Given the description of an element on the screen output the (x, y) to click on. 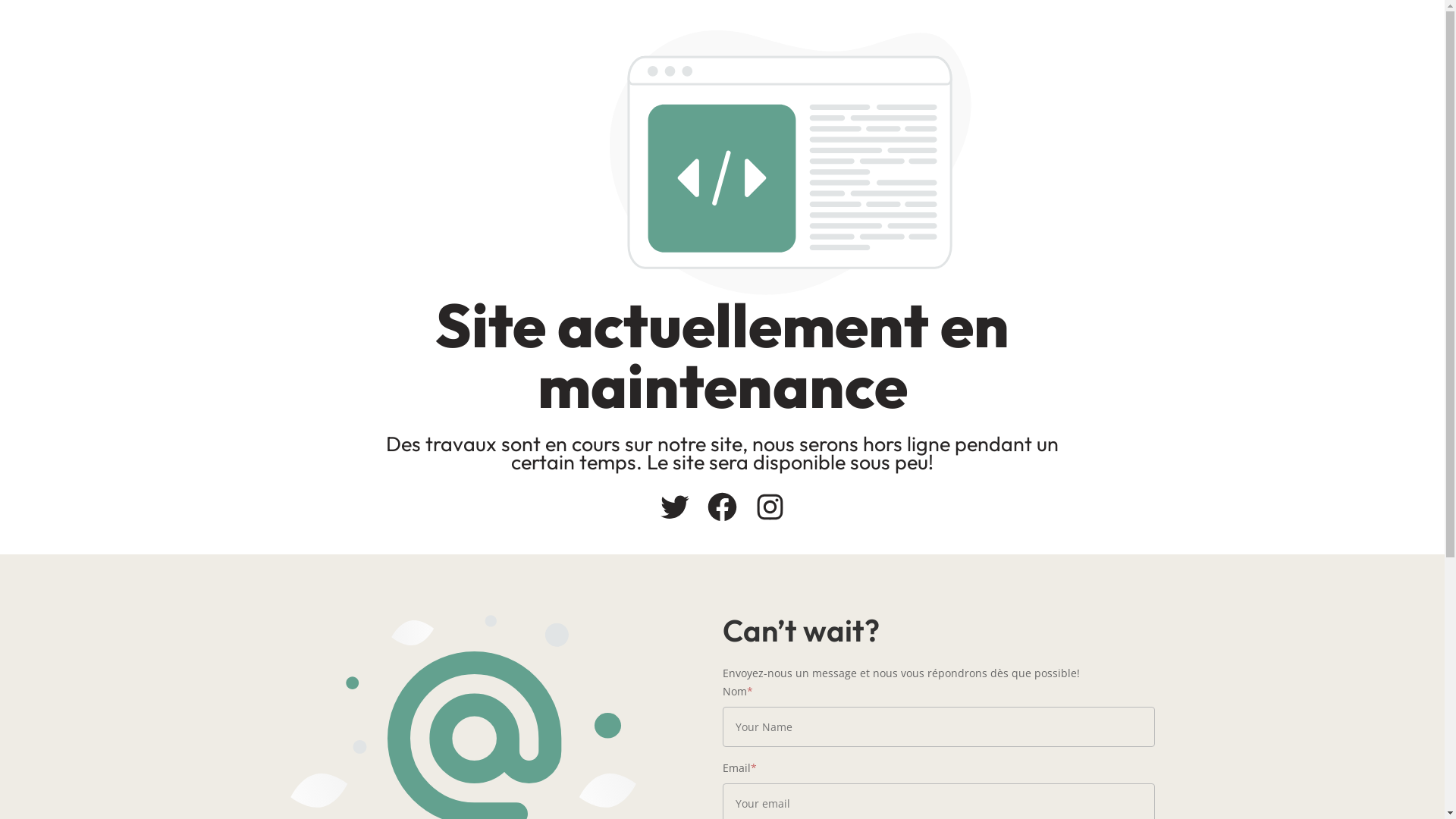
Facebook Element type: text (722, 506)
Instagram Element type: text (770, 506)
Twitter Element type: text (674, 506)
